Given the description of an element on the screen output the (x, y) to click on. 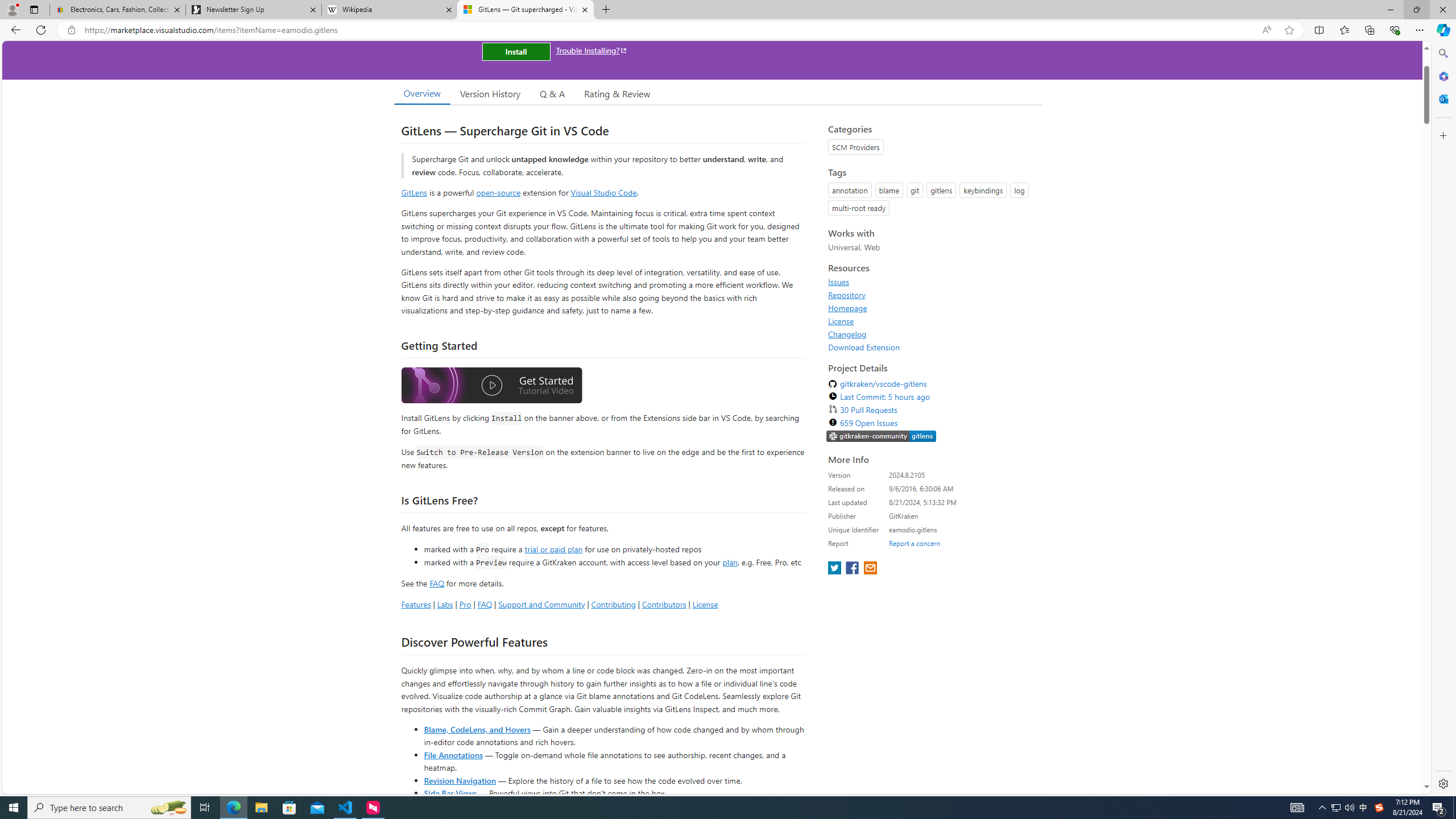
Q & A (552, 92)
Version History (489, 92)
Contributors (663, 603)
